Given the description of an element on the screen output the (x, y) to click on. 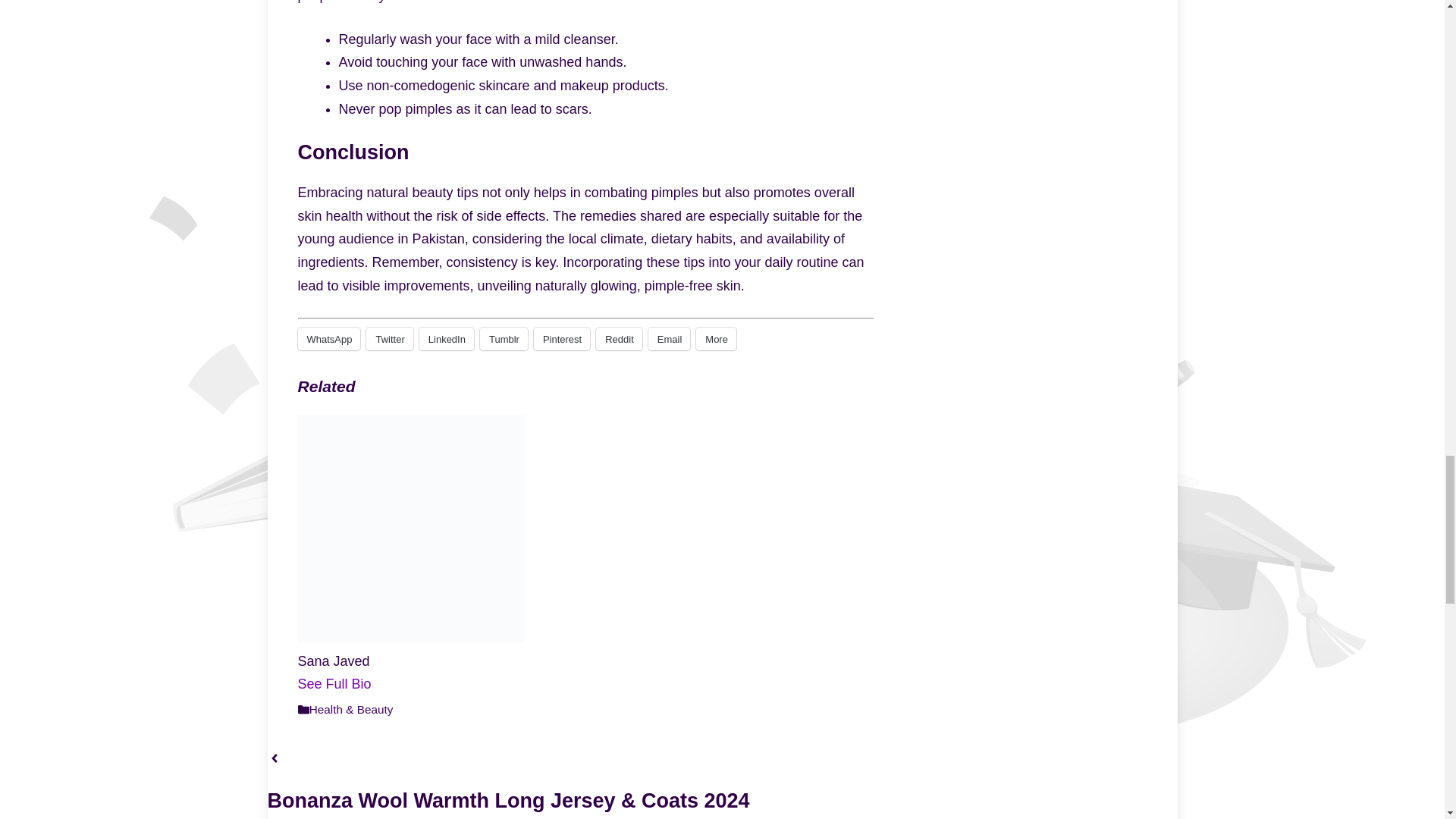
Click to share on WhatsApp (328, 338)
Click to share on LinkedIn (446, 338)
Twitter (389, 338)
Click to share on Tumblr (503, 338)
Click to share on Twitter (389, 338)
Tumblr (503, 338)
WhatsApp (328, 338)
LinkedIn (446, 338)
